Given the description of an element on the screen output the (x, y) to click on. 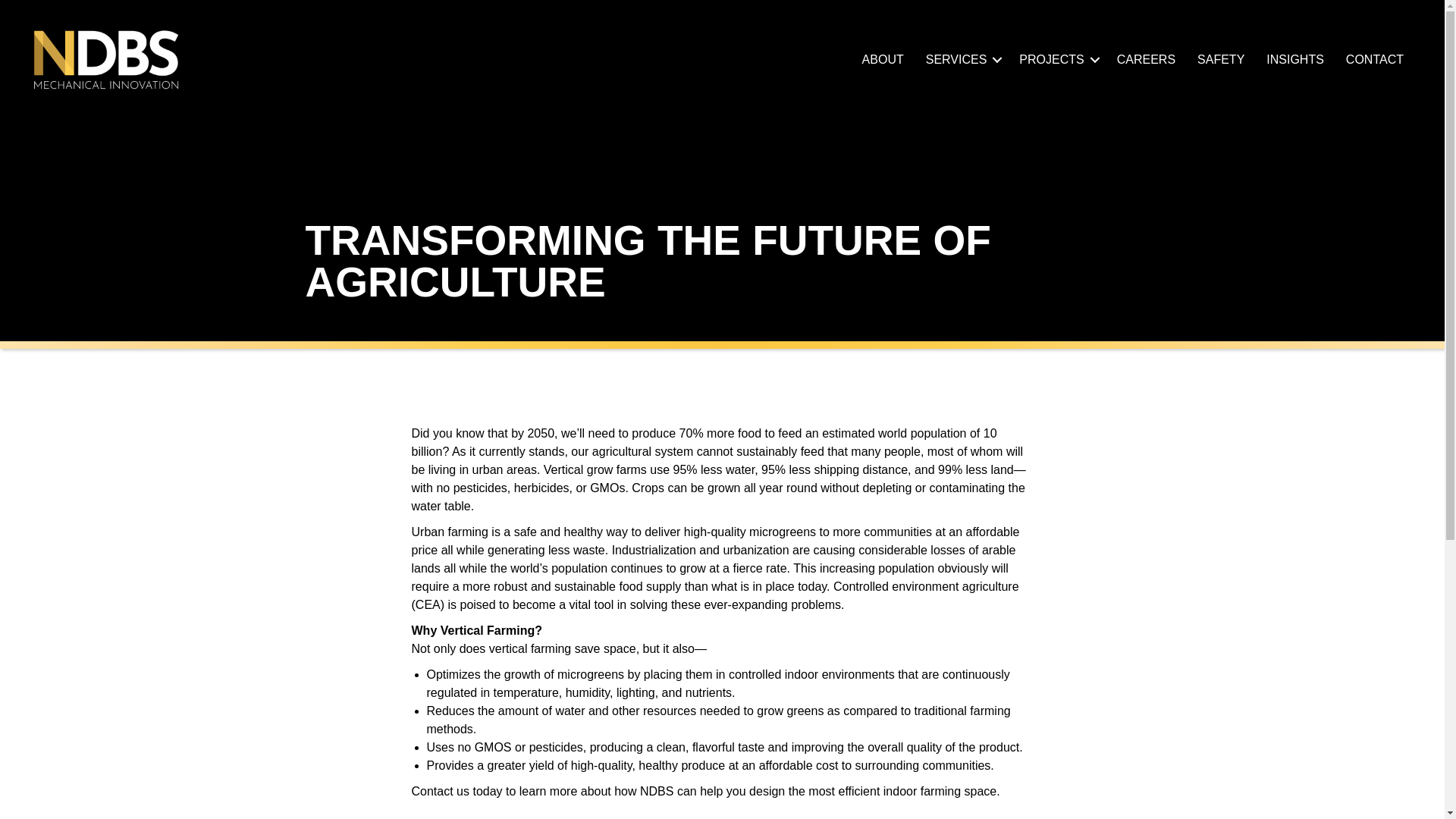
CAREERS (1146, 59)
SERVICES (962, 59)
INSIGHTS (1295, 59)
CONTACT (1374, 59)
SAFETY (1220, 59)
ABOUT (882, 59)
PROJECTS (1057, 59)
